Given the description of an element on the screen output the (x, y) to click on. 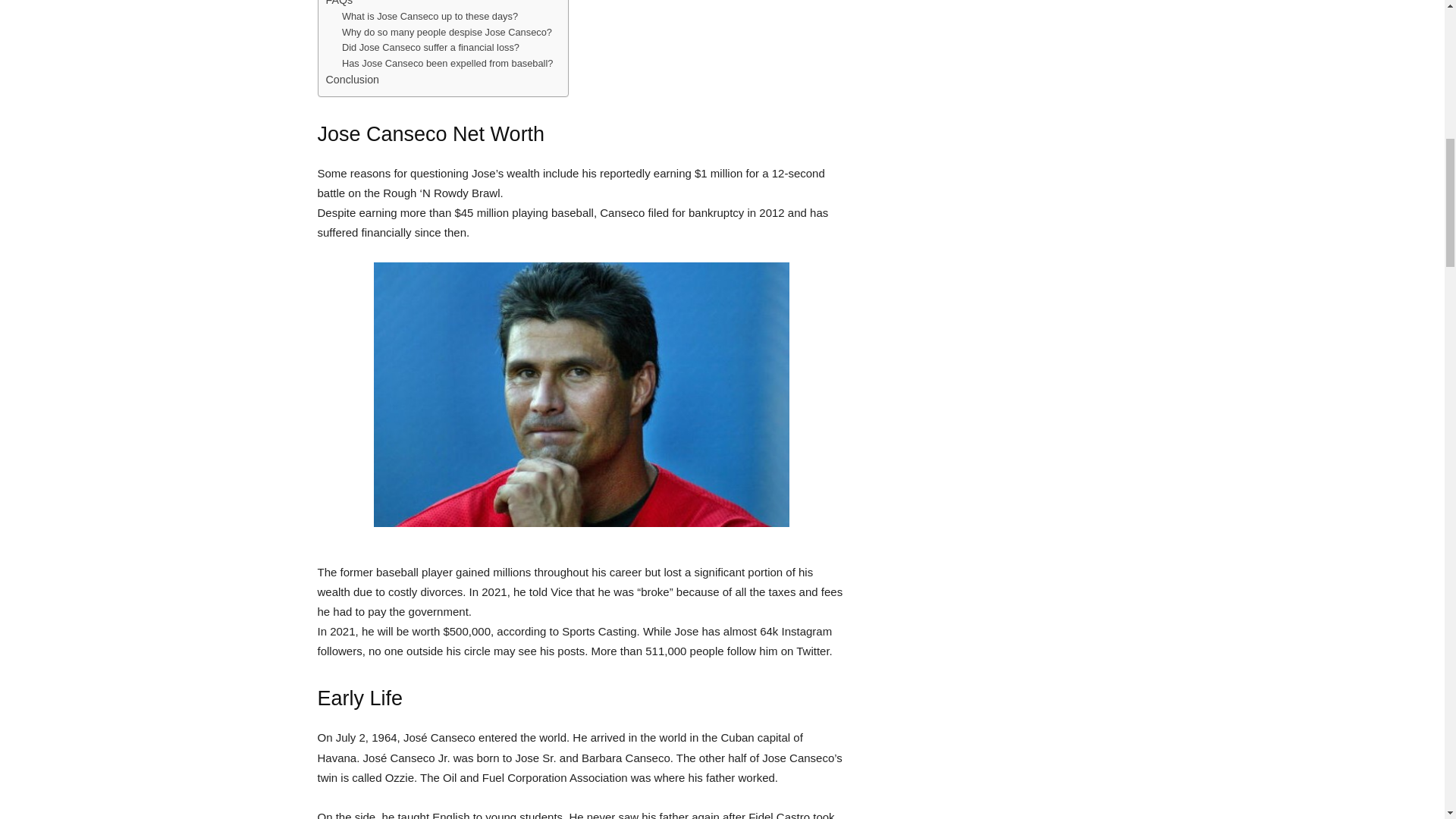
Did Jose Canseco suffer a financial loss? (430, 48)
FAQs (339, 4)
Why do so many people despise Jose Canseco? (446, 32)
What is Jose Canseco up to these days? (430, 17)
Has Jose Canseco been expelled from baseball? (447, 64)
